Given the description of an element on the screen output the (x, y) to click on. 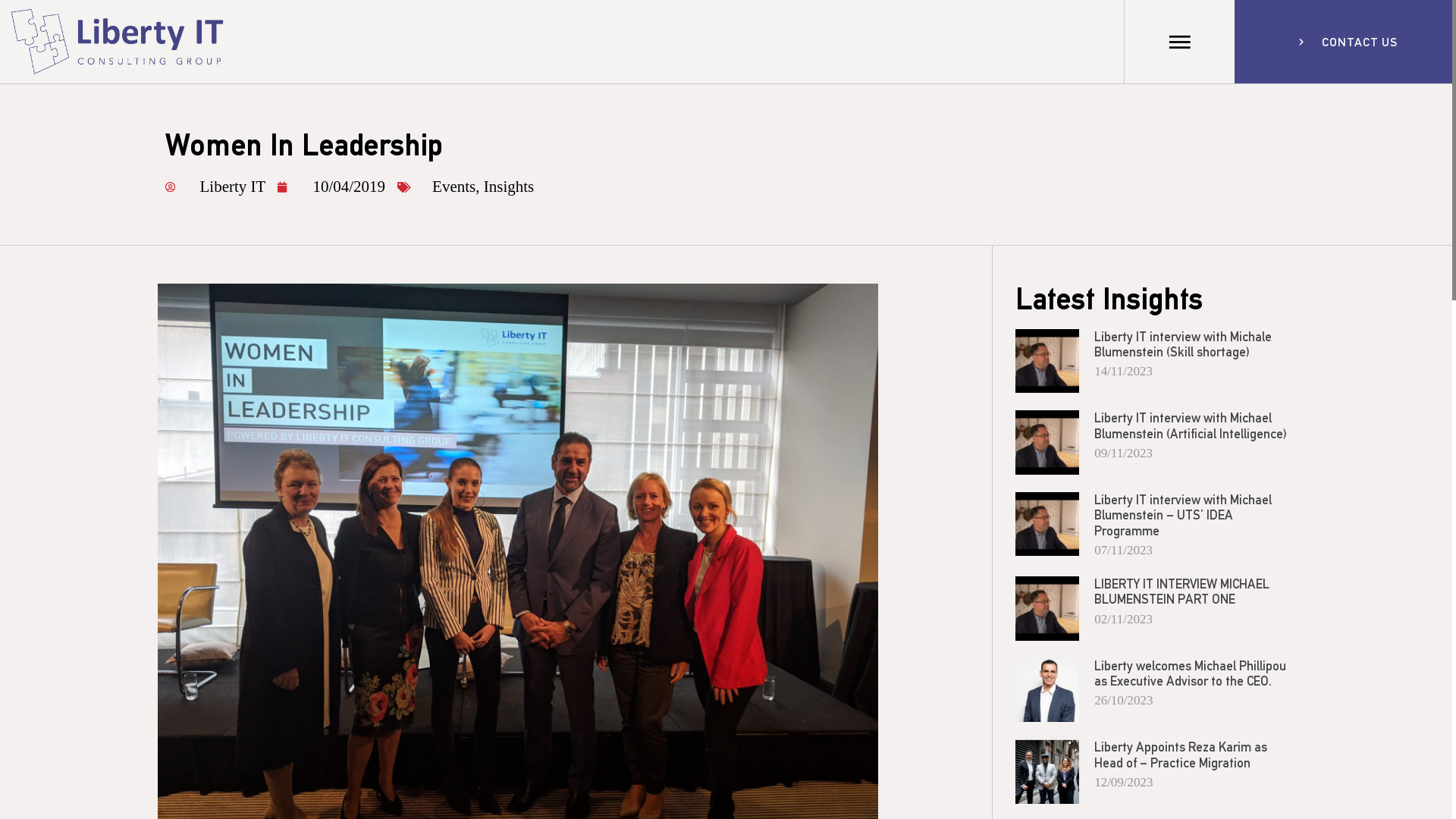
Events Element type: text (453, 186)
LIBERTY IT INTERVIEW MICHAEL BLUMENSTEIN PART ONE Element type: text (1181, 590)
CONTACT US Element type: text (1359, 41)
Insights Element type: text (508, 186)
